Given the description of an element on the screen output the (x, y) to click on. 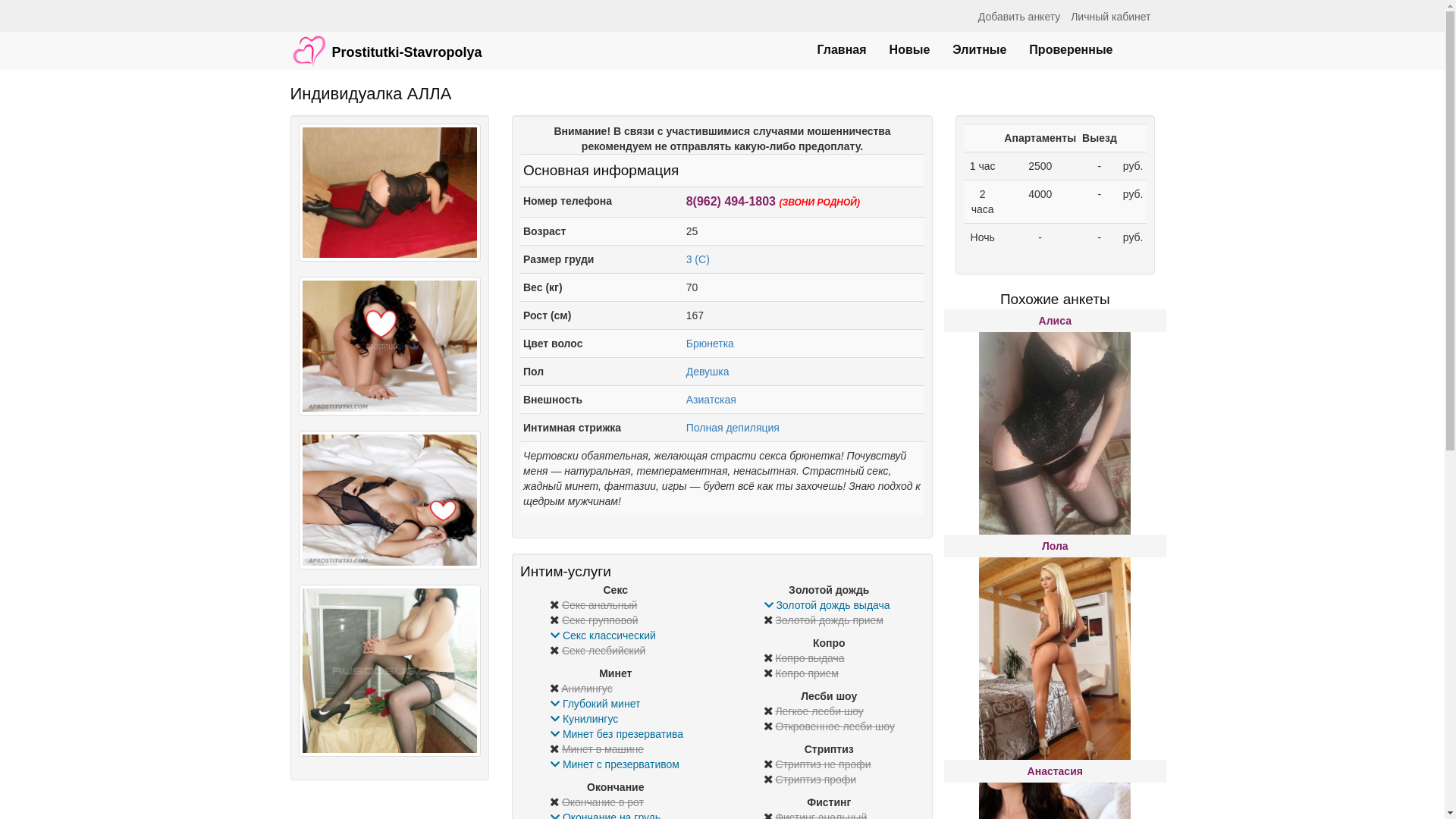
3 (C) Element type: text (697, 259)
Prostitutki-Stavropolya Element type: text (386, 43)
